Given the description of an element on the screen output the (x, y) to click on. 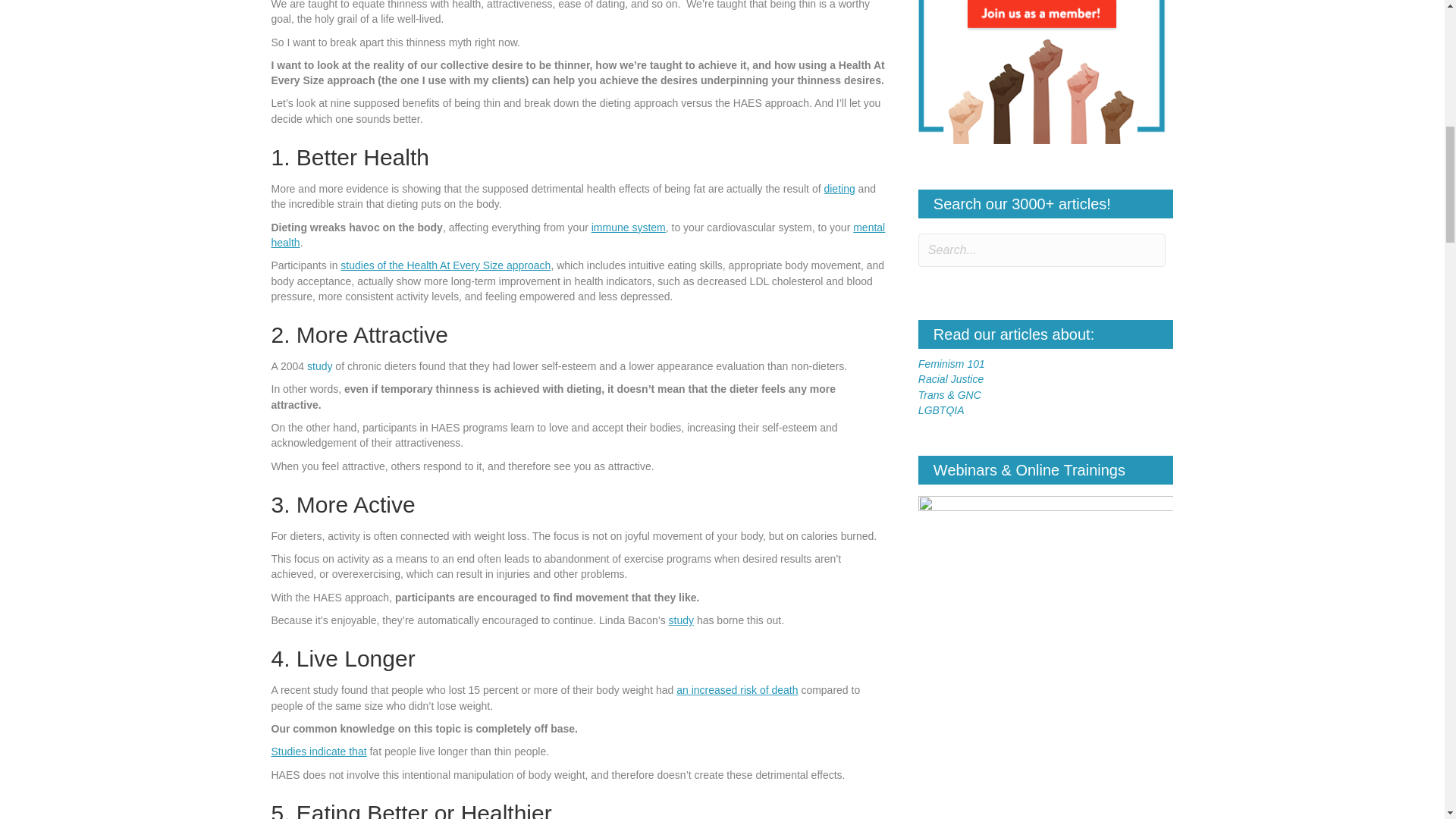
study (681, 620)
study (319, 366)
studies of the Health At Every Size approach (445, 265)
mental health (577, 234)
Studies indicate that (318, 751)
an increased risk of death (737, 689)
dieting (839, 188)
immune system (628, 227)
